Given the description of an element on the screen output the (x, y) to click on. 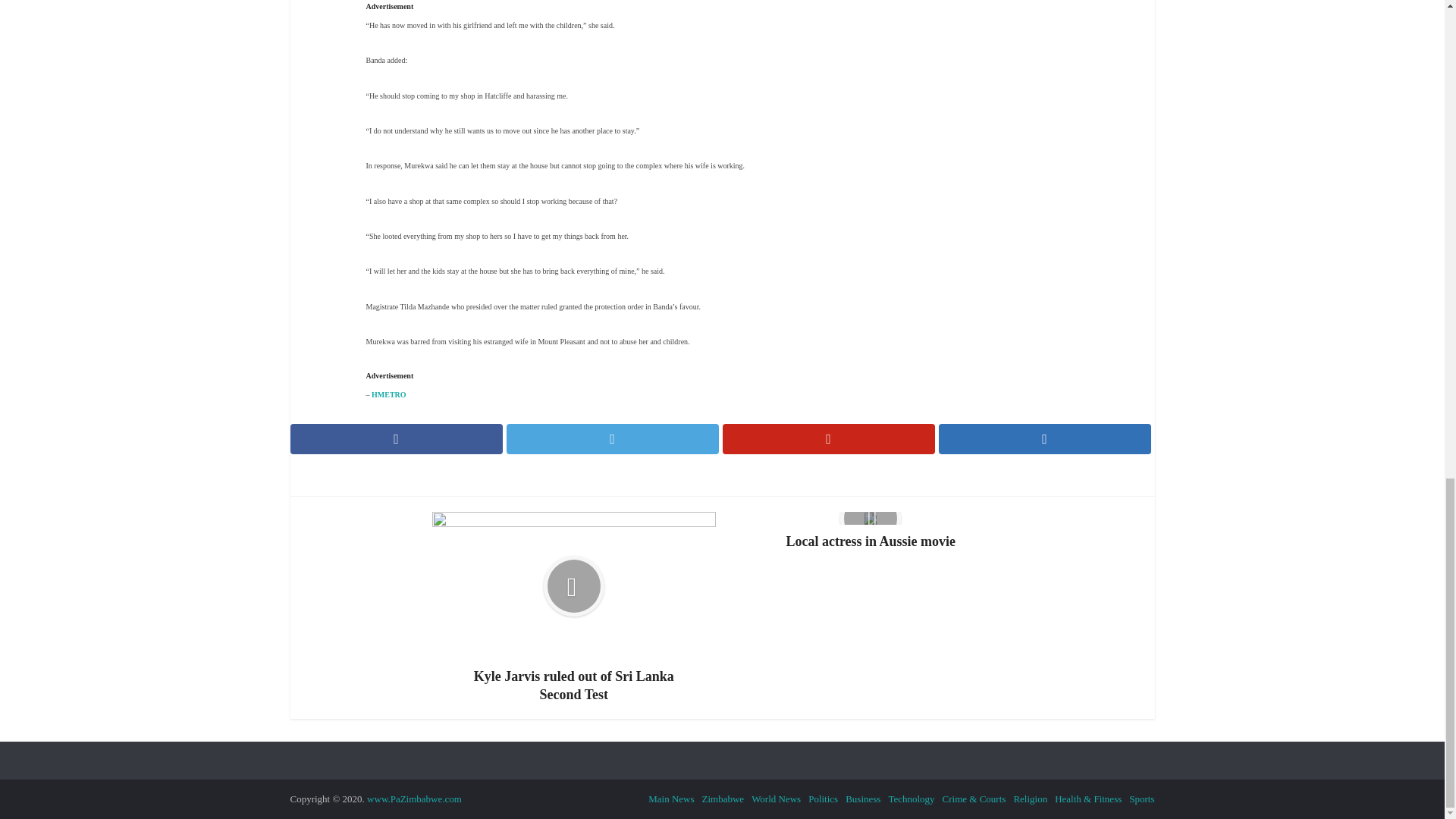
Kyle Jarvis ruled out of Sri Lanka Second Test (574, 607)
Religion (1029, 798)
Technology (911, 798)
Politics (823, 798)
Local actress in Aussie movie (870, 530)
Zimbabwe (722, 798)
Main News (670, 798)
www.PaZimbabwe.com (413, 798)
Business (862, 798)
World News (775, 798)
HMETRO (388, 394)
